Given the description of an element on the screen output the (x, y) to click on. 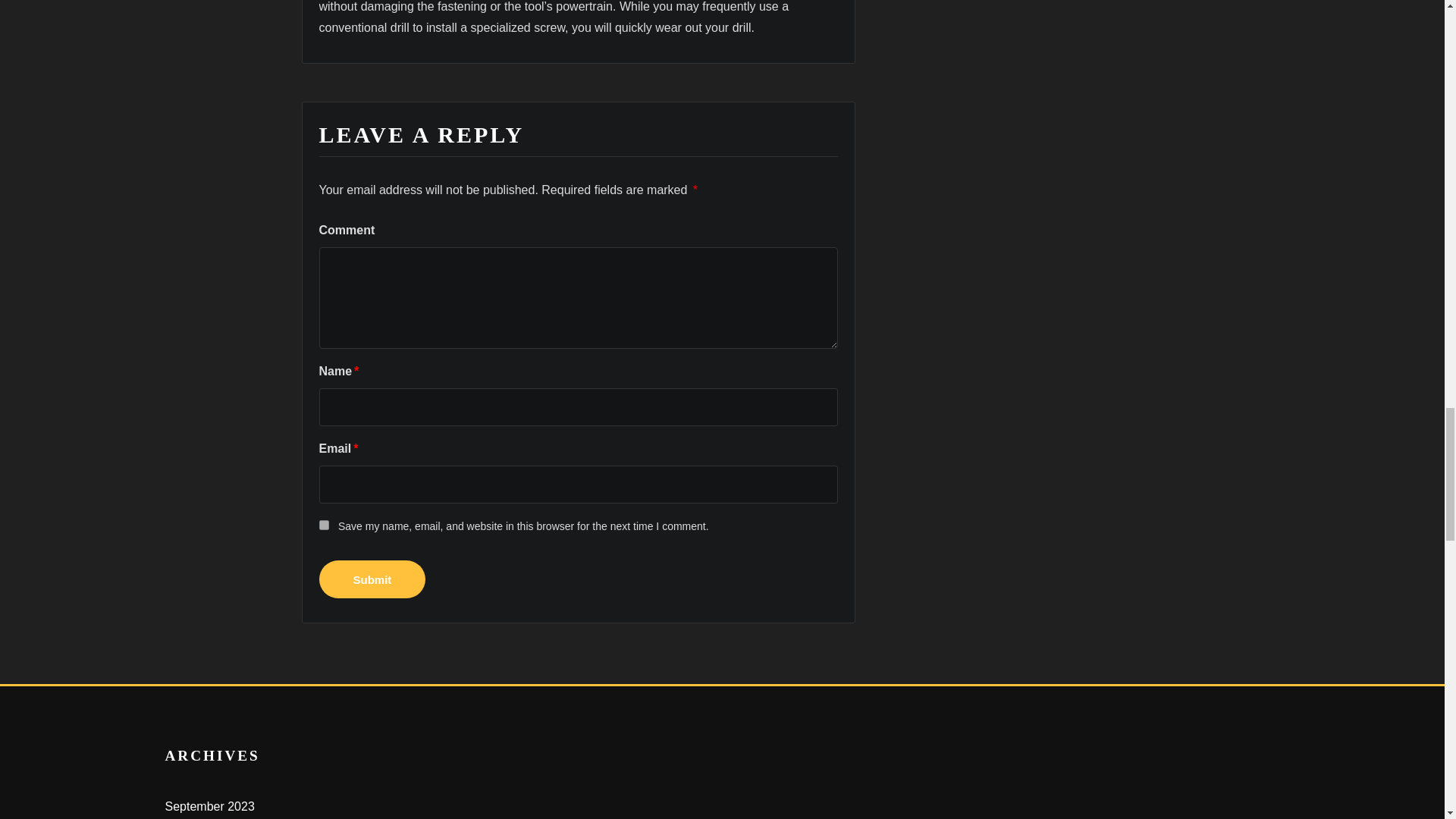
September 2023 (209, 806)
Submit (371, 579)
yes (323, 524)
Submit (371, 579)
